Given the description of an element on the screen output the (x, y) to click on. 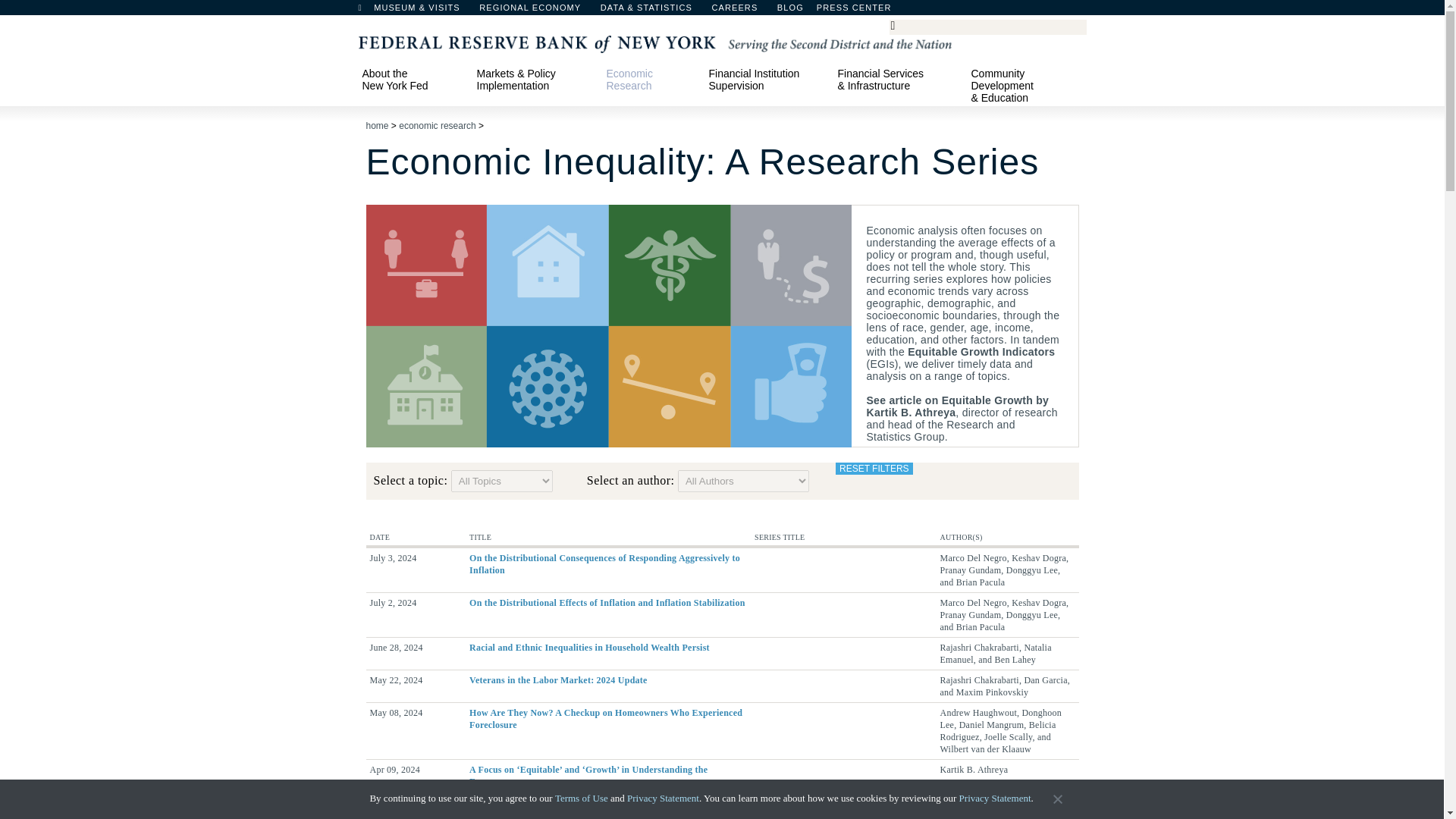
REGIONAL ECONOMY (537, 11)
Press Center (861, 11)
Search Box (985, 26)
Home (367, 11)
About the New York Fed (411, 79)
About the New York Fed (411, 79)
CAREERS (742, 11)
Liberty Street Economics Blog (830, 11)
PRESS CENTER (861, 11)
Careers (742, 11)
BLOG (830, 11)
Regional Economy (537, 11)
Federal Reserve Bank of New York (654, 42)
Search Form (987, 27)
